Given the description of an element on the screen output the (x, y) to click on. 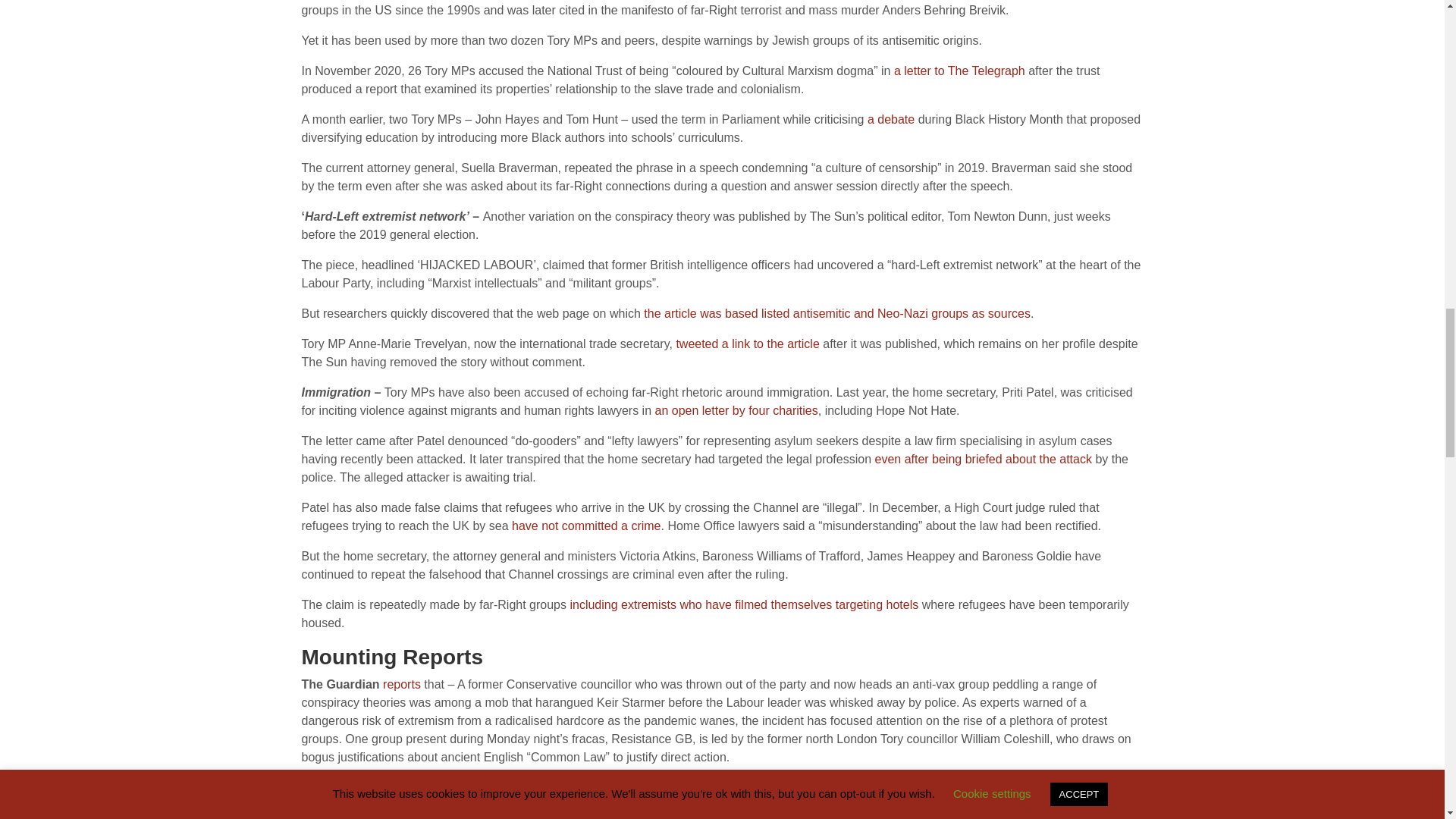
a debate (890, 119)
have not committed a crime (586, 525)
a letter to The Telegraph (959, 70)
even after being briefed about the attack (983, 459)
tweeted a link to the article (746, 343)
reports (401, 684)
an open letter by four charities (736, 410)
